Given the description of an element on the screen output the (x, y) to click on. 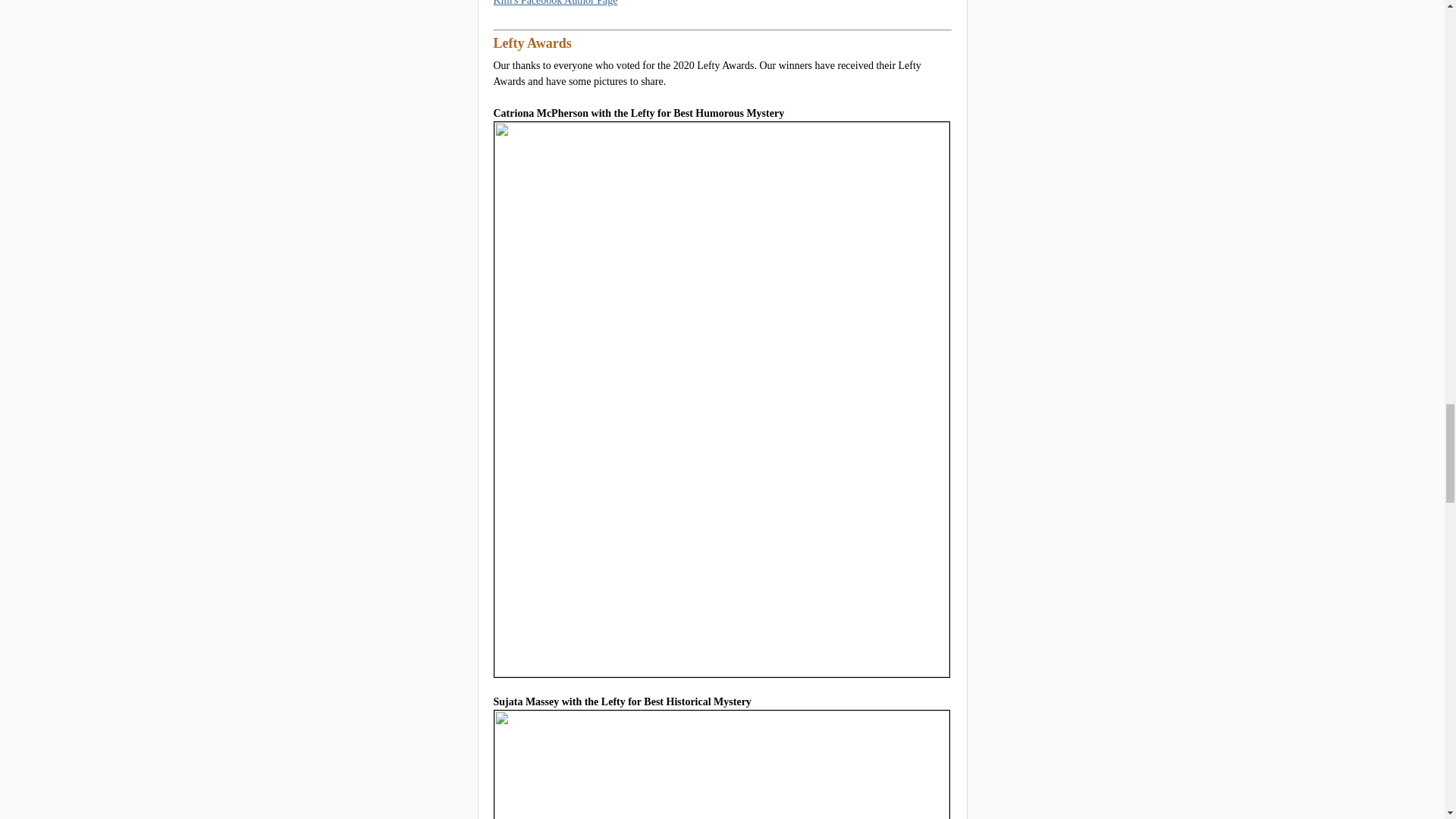
Kim's Facebook Author Page (555, 2)
